Given the description of an element on the screen output the (x, y) to click on. 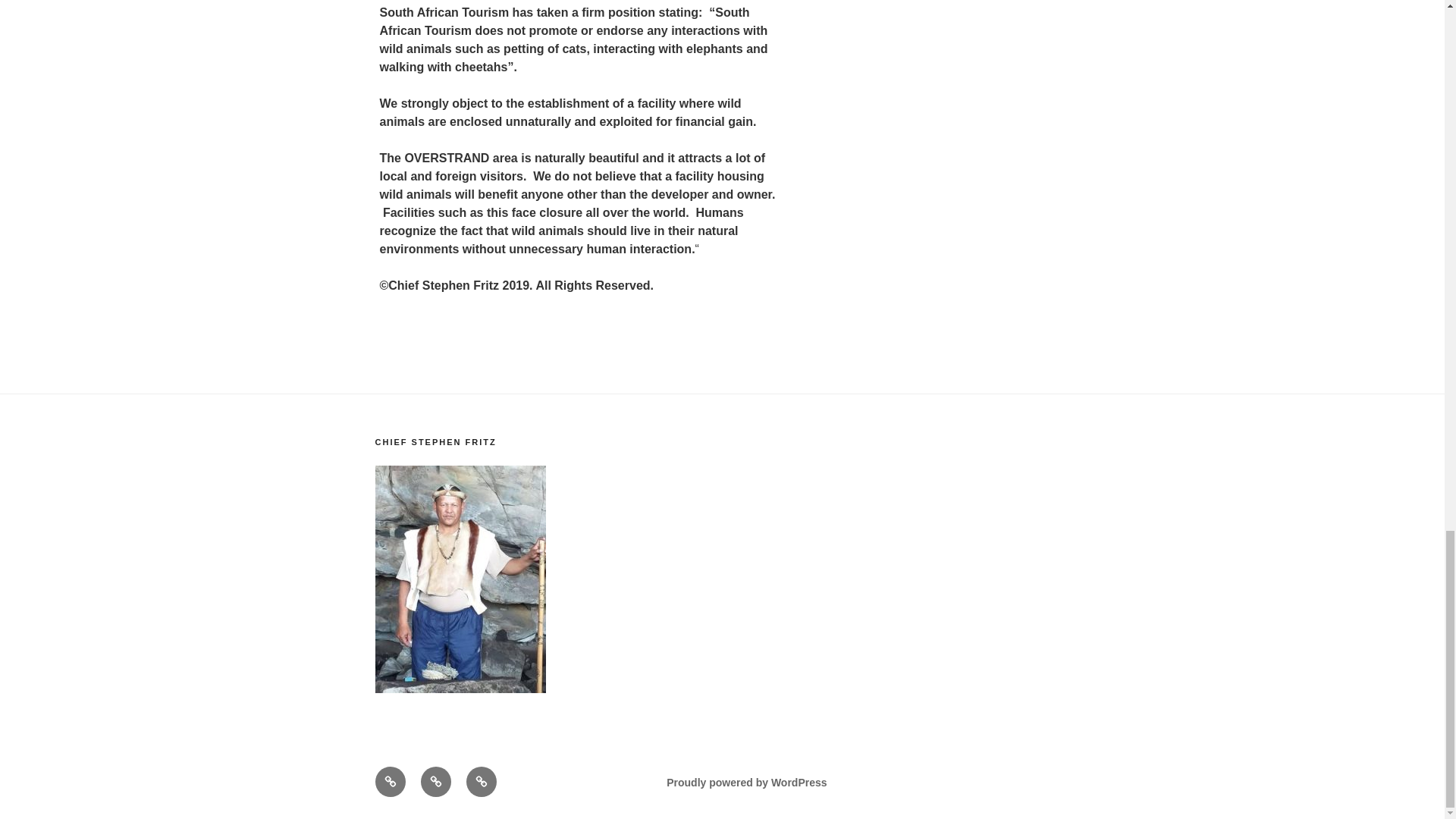
Proudly powered by WordPress (746, 782)
Contact (480, 781)
Home (389, 781)
News (435, 781)
